Given the description of an element on the screen output the (x, y) to click on. 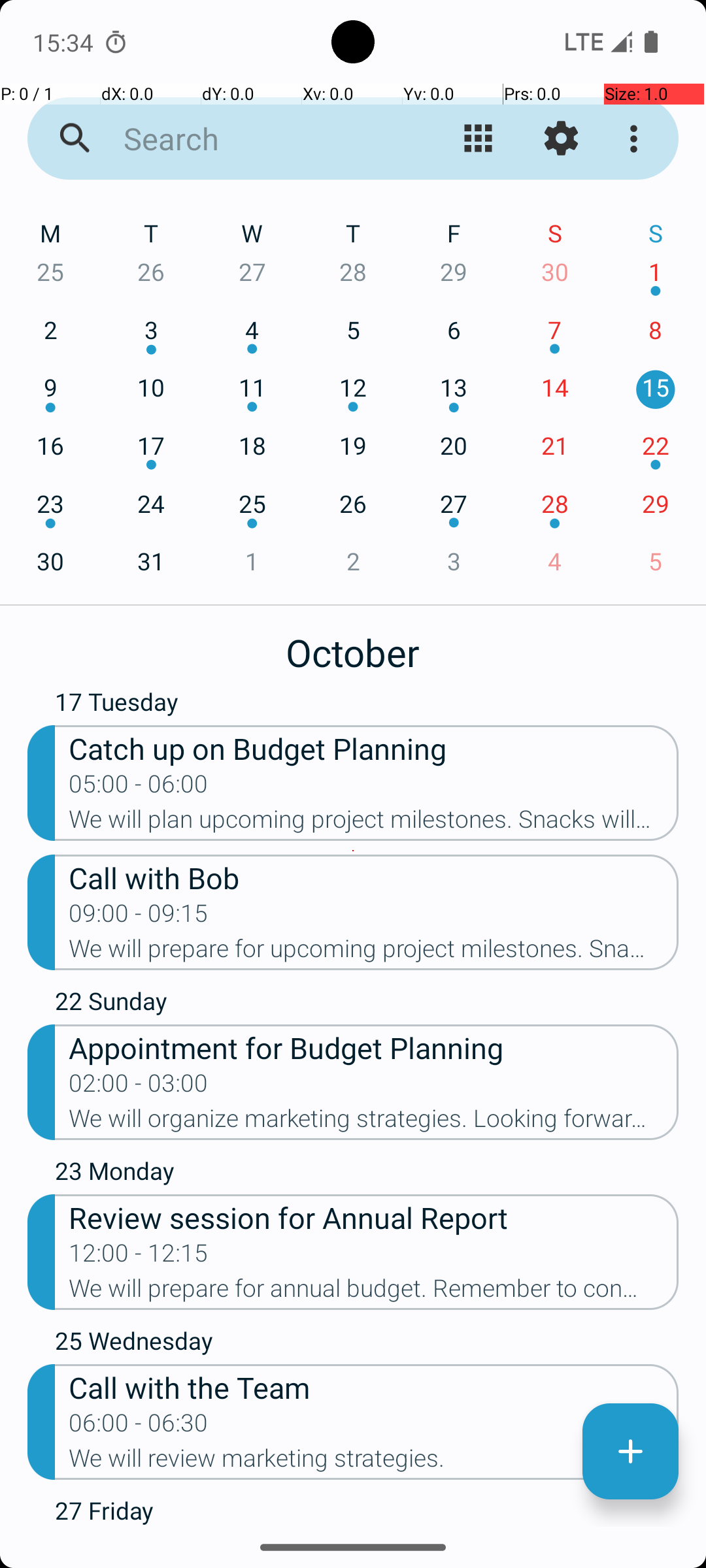
17 Tuesday Element type: android.widget.TextView (366, 704)
22 Sunday Element type: android.widget.TextView (366, 1003)
23 Monday Element type: android.widget.TextView (366, 1173)
25 Wednesday Element type: android.widget.TextView (366, 1343)
27 Friday Element type: android.widget.TextView (366, 1509)
Catch up on Budget Planning Element type: android.widget.TextView (373, 747)
05:00 - 06:00 Element type: android.widget.TextView (137, 787)
We will plan upcoming project milestones. Snacks will be provided. Element type: android.widget.TextView (373, 822)
Call with Bob Element type: android.widget.TextView (373, 876)
09:00 - 09:15 Element type: android.widget.TextView (137, 916)
We will prepare for upcoming project milestones. Snacks will be provided. Element type: android.widget.TextView (373, 952)
02:00 - 03:00 Element type: android.widget.TextView (137, 1086)
We will organize marketing strategies. Looking forward to productive discussions. Element type: android.widget.TextView (373, 1122)
12:00 - 12:15 Element type: android.widget.TextView (137, 1256)
We will prepare for annual budget. Remember to confirm attendance. Element type: android.widget.TextView (373, 1291)
Call with the Team Element type: android.widget.TextView (373, 1386)
06:00 - 06:30 Element type: android.widget.TextView (137, 1426)
We will review marketing strategies. Element type: android.widget.TextView (373, 1461)
